Given the description of an element on the screen output the (x, y) to click on. 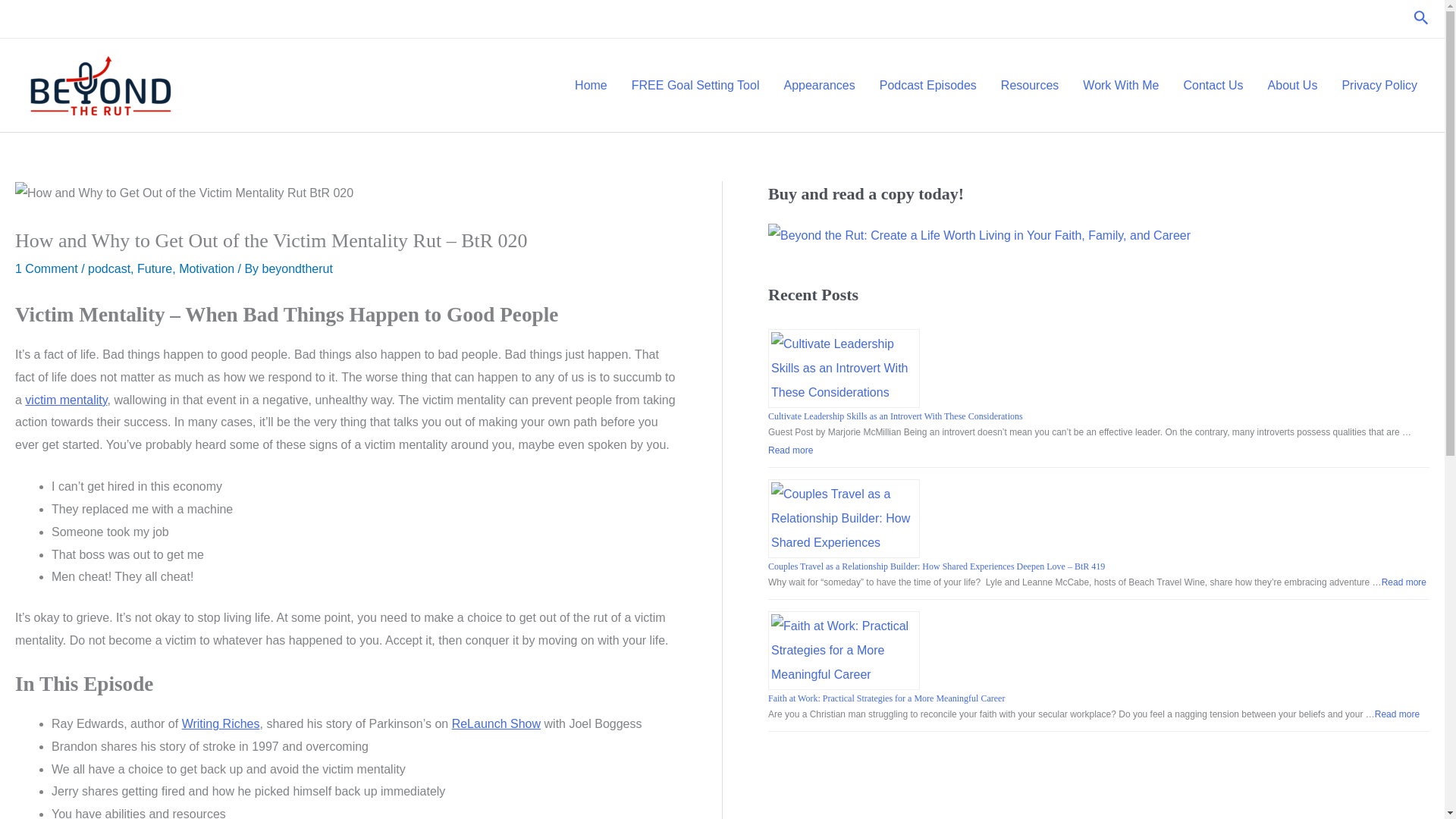
About Us (1292, 85)
View all posts by beyondtherut (297, 268)
Motivation (206, 268)
Appearances (818, 85)
Writing Riches (221, 723)
Future (153, 268)
FREE Goal Setting Tool (695, 85)
victim mentality (65, 399)
1 Comment (46, 268)
Resources (1029, 85)
